Given the description of an element on the screen output the (x, y) to click on. 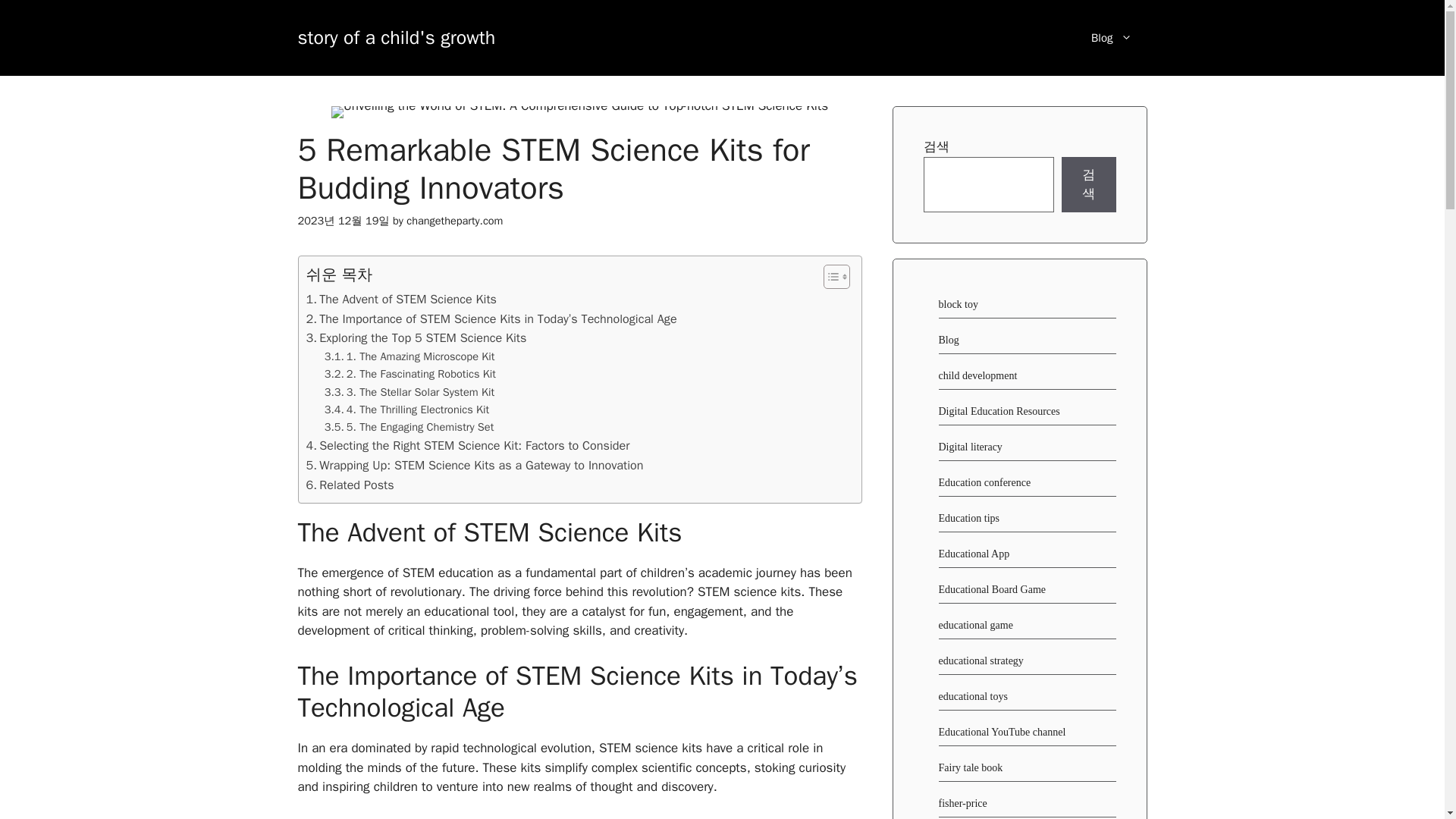
4. The Thrilling Electronics Kit (406, 409)
4. The Thrilling Electronics Kit (406, 409)
Exploring the Top 5 STEM Science Kits (416, 338)
Selecting the Right STEM Science Kit: Factors to Consider (467, 445)
The Advent of STEM Science Kits (401, 299)
Selecting the Right STEM Science Kit: Factors to Consider (467, 445)
The Advent of STEM Science Kits (401, 299)
5. The Engaging Chemistry Set (409, 426)
story of a child's growth (396, 37)
1. The Amazing Microscope Kit (409, 356)
3. The Stellar Solar System Kit (409, 392)
Wrapping Up: STEM Science Kits as a Gateway to Innovation (474, 465)
2. The Fascinating Robotics Kit (410, 374)
5. The Engaging Chemistry Set (409, 426)
Related Posts (349, 485)
